Given the description of an element on the screen output the (x, y) to click on. 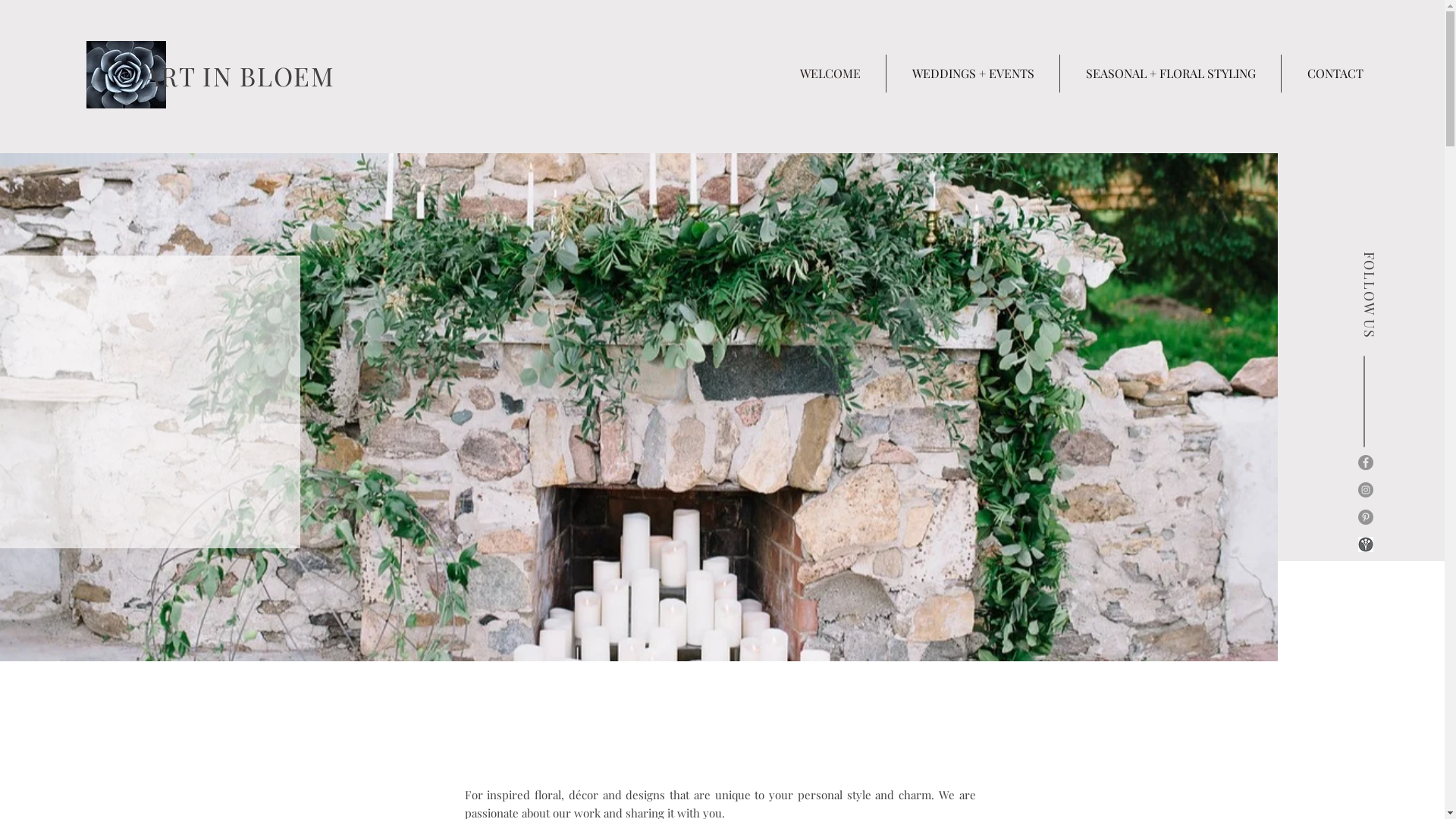
WEDDINGS + EVENTS Element type: text (972, 73)
WELCOME Element type: text (829, 73)
ART IN BLOEM Element type: text (239, 75)
CONTACT Element type: text (1334, 73)
SEASONAL + FLORAL STYLING Element type: text (1170, 73)
